Given the description of an element on the screen output the (x, y) to click on. 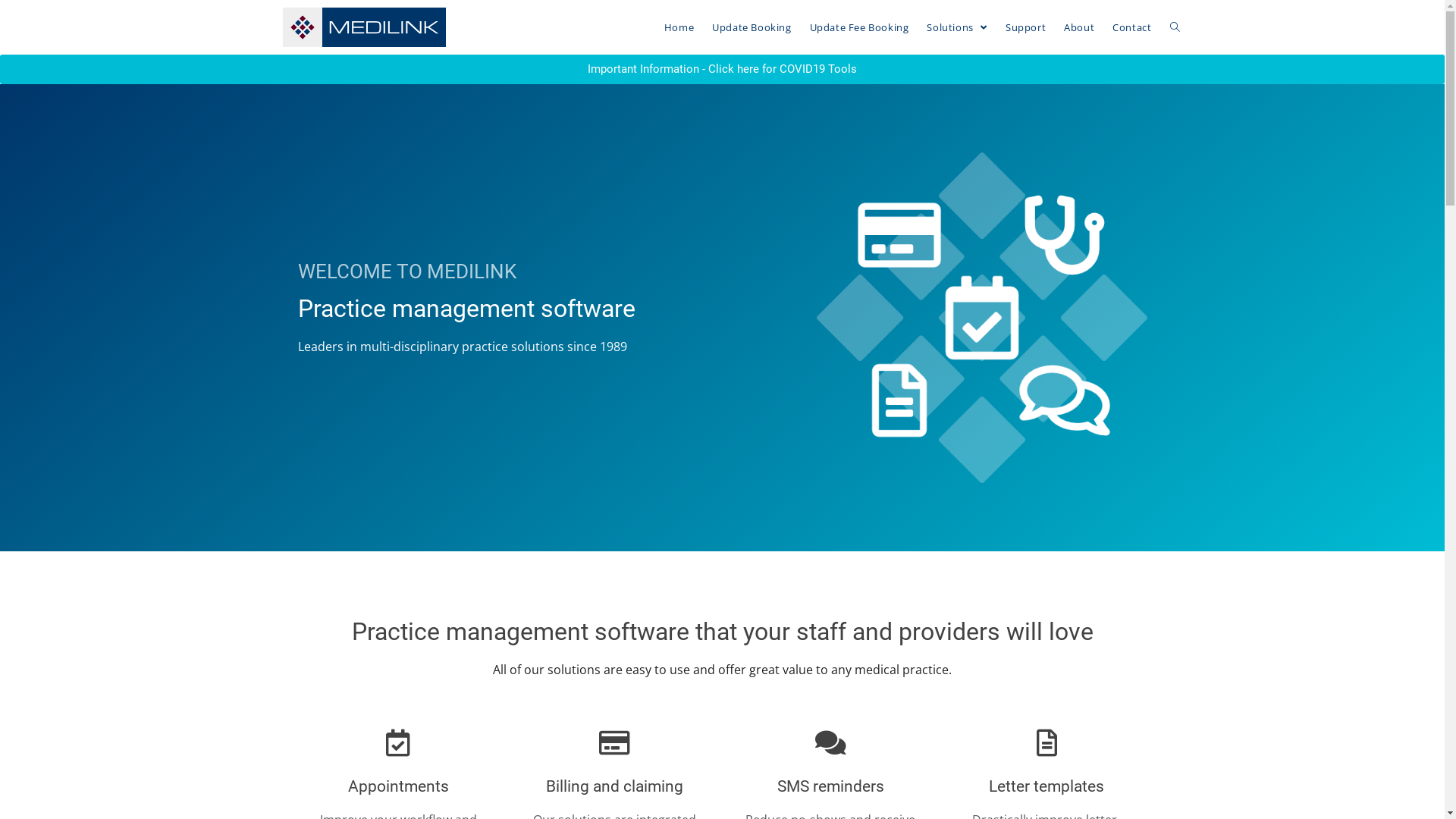
Write us a testimonial Element type: text (1009, 730)
Subscribe to our newsletter Element type: text (1009, 664)
Contact Element type: text (1131, 27)
Update Fee Booking Element type: text (859, 27)
Create a support request Element type: text (1009, 708)
sales@medilink.com.au Element type: text (721, 686)
support@medilink.com.au Element type: text (721, 708)
Support Element type: text (1025, 27)
Enquire about our products Element type: text (1009, 686)
Home Element type: text (678, 27)
Important Information - Click here for COVID19 Tools Element type: text (722, 69)
1300 881 995 Element type: text (721, 664)
Solutions Element type: text (956, 27)
Update Booking Element type: text (751, 27)
Privacy Policy Element type: text (884, 802)
About Element type: text (1078, 27)
